Given the description of an element on the screen output the (x, y) to click on. 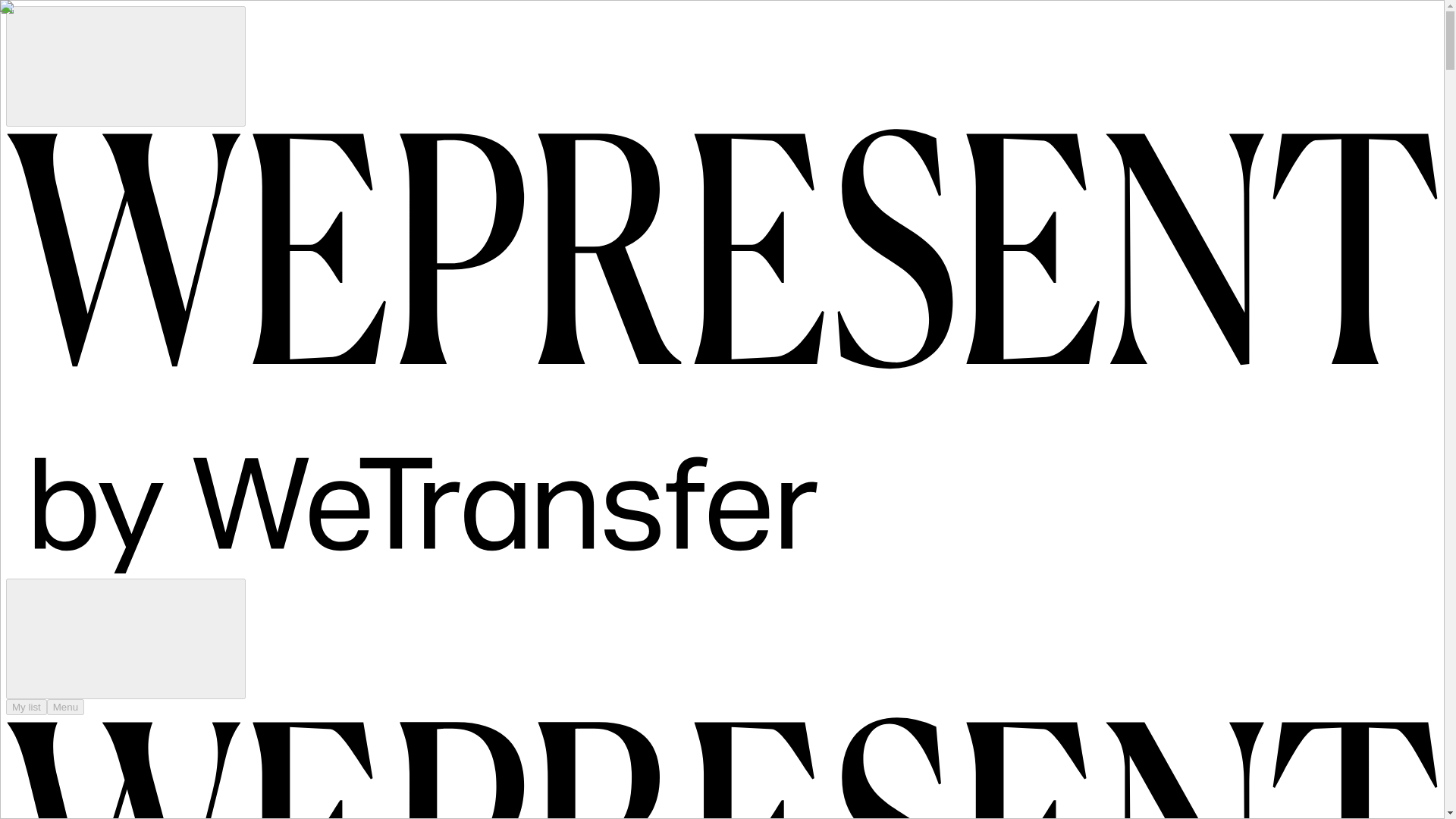
My list (25, 706)
Menu (65, 706)
